Given the description of an element on the screen output the (x, y) to click on. 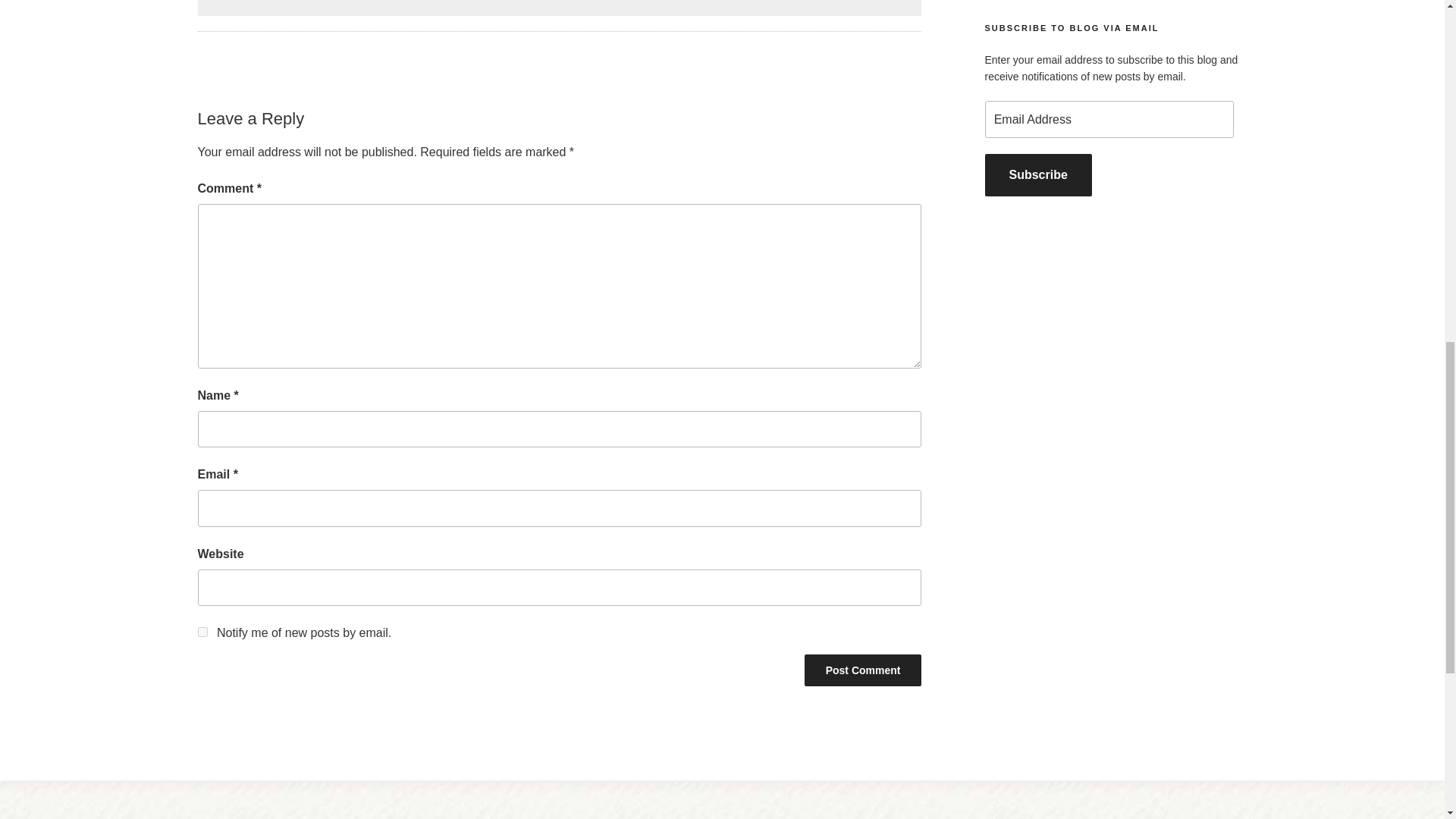
Post Comment (863, 670)
Advertisement (558, 7)
subscribe (201, 632)
Post Comment (863, 670)
